Given the description of an element on the screen output the (x, y) to click on. 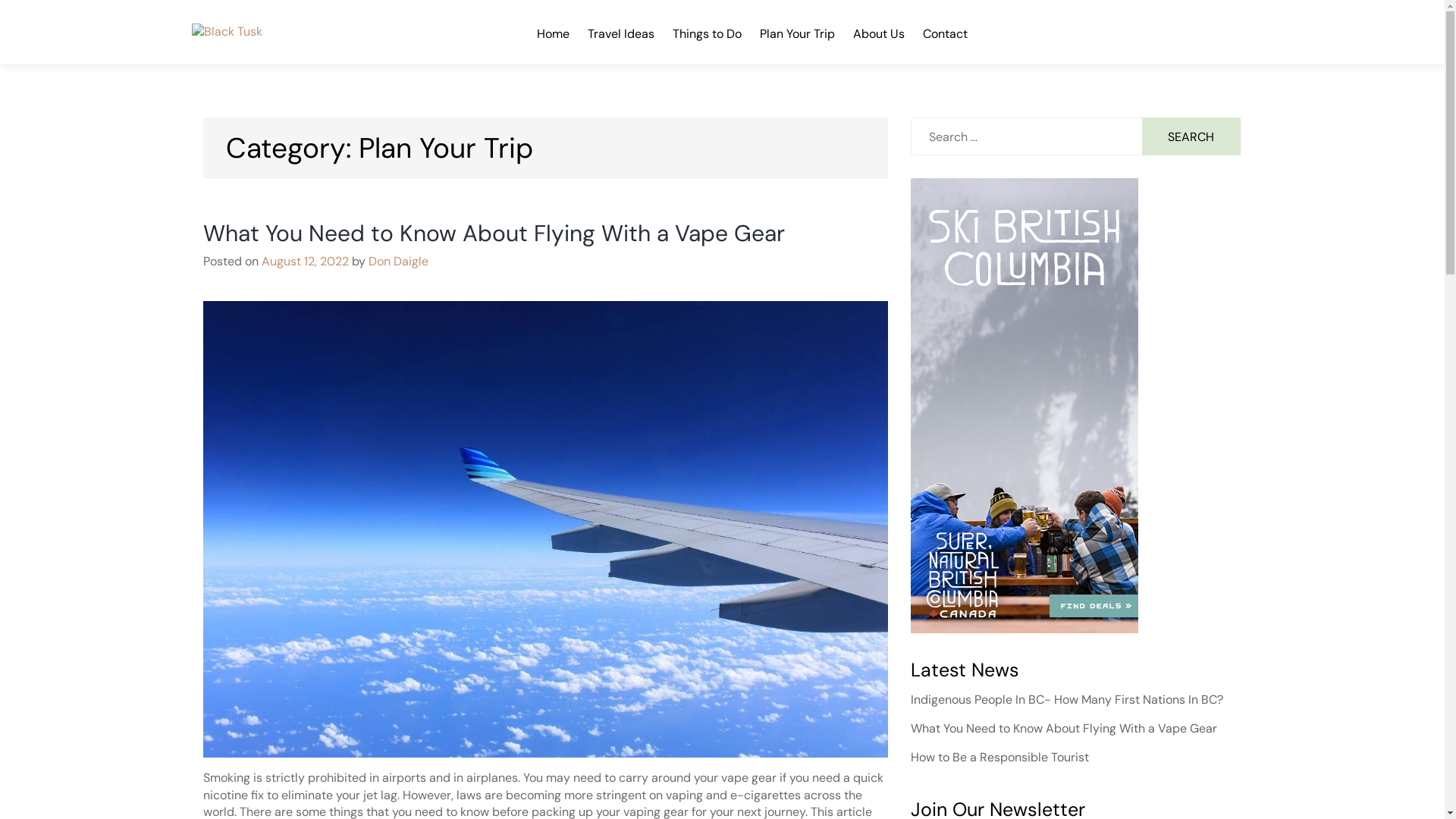
Contact Element type: text (944, 32)
Search Element type: text (1191, 136)
What You Need to Know About Flying With a Vape Gear Element type: text (1063, 728)
How to Be a Responsible Tourist Element type: text (999, 757)
Don Daigle Element type: text (398, 261)
About Us Element type: text (877, 32)
What You Need to Know About Flying With a Vape Gear Element type: text (493, 232)
Plan Your Trip Element type: text (797, 32)
Home Element type: text (553, 32)
Things to Do Element type: text (706, 32)
August 12, 2022 Element type: text (304, 261)
Black Tusk Element type: text (241, 51)
Travel Ideas Element type: text (620, 32)
Indigenous People In BC- How Many First Nations In BC? Element type: text (1066, 699)
